Given the description of an element on the screen output the (x, y) to click on. 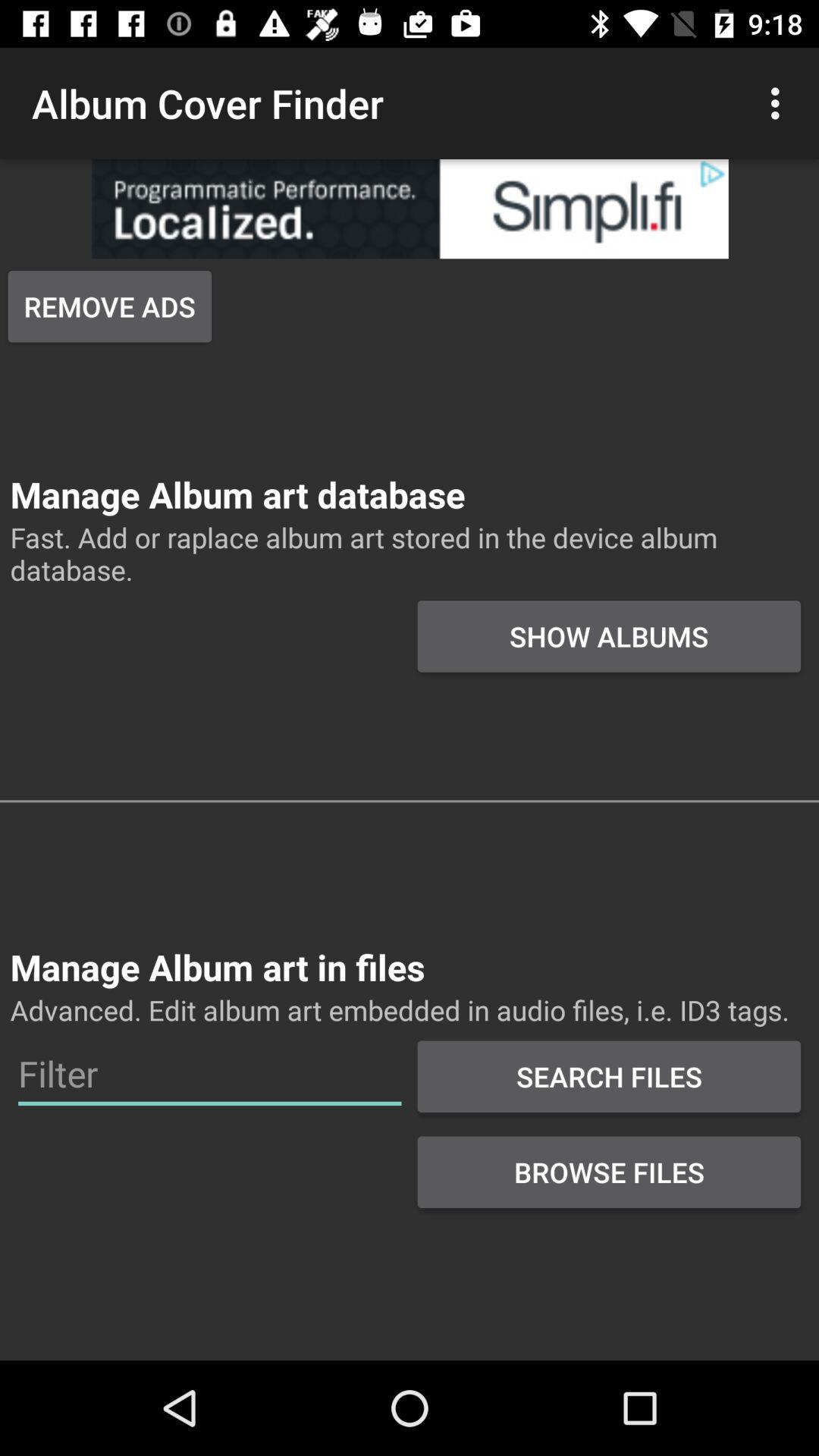
specify filter for searching album art in files (209, 1074)
